Given the description of an element on the screen output the (x, y) to click on. 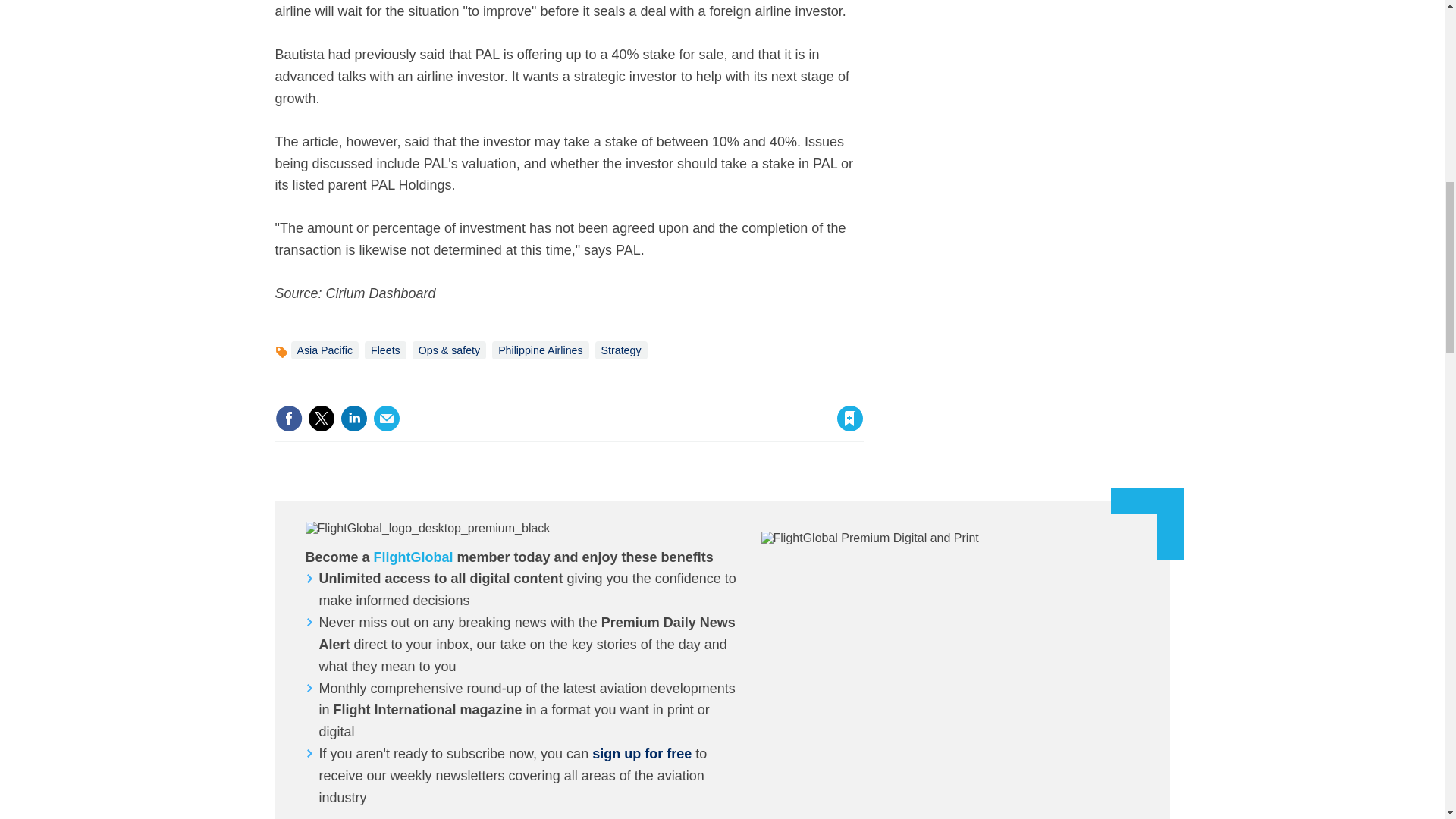
Email this article (386, 418)
Share this on Linked in (352, 418)
Share this on Twitter (320, 418)
Share this on Facebook (288, 418)
